Given the description of an element on the screen output the (x, y) to click on. 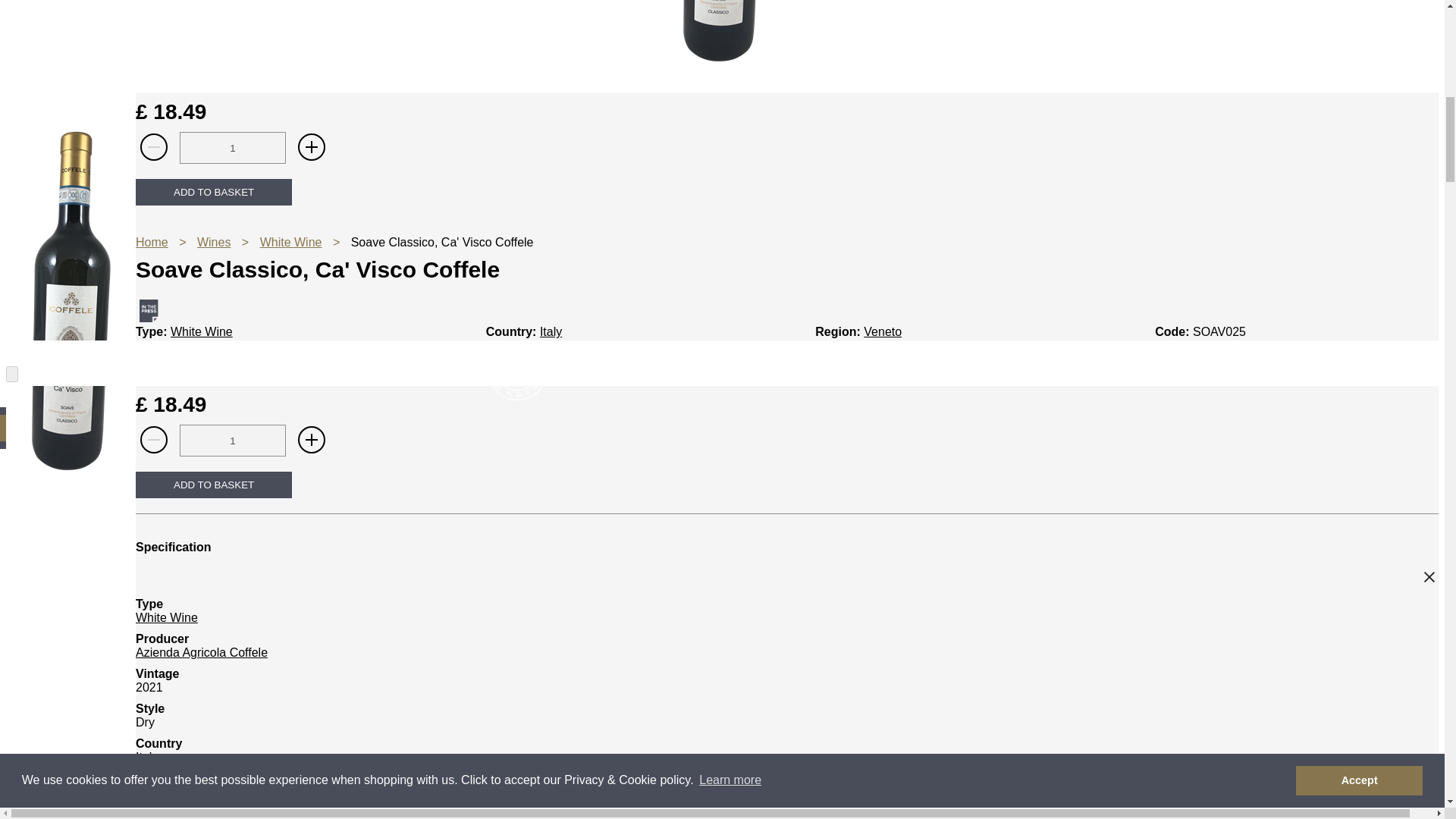
In The Press (148, 310)
1 (232, 147)
Increase number of bottles (312, 440)
Decrease number of bottles (153, 440)
Increase number of bottles (312, 147)
Decrease number of bottles (153, 147)
1 (232, 440)
